Given the description of an element on the screen output the (x, y) to click on. 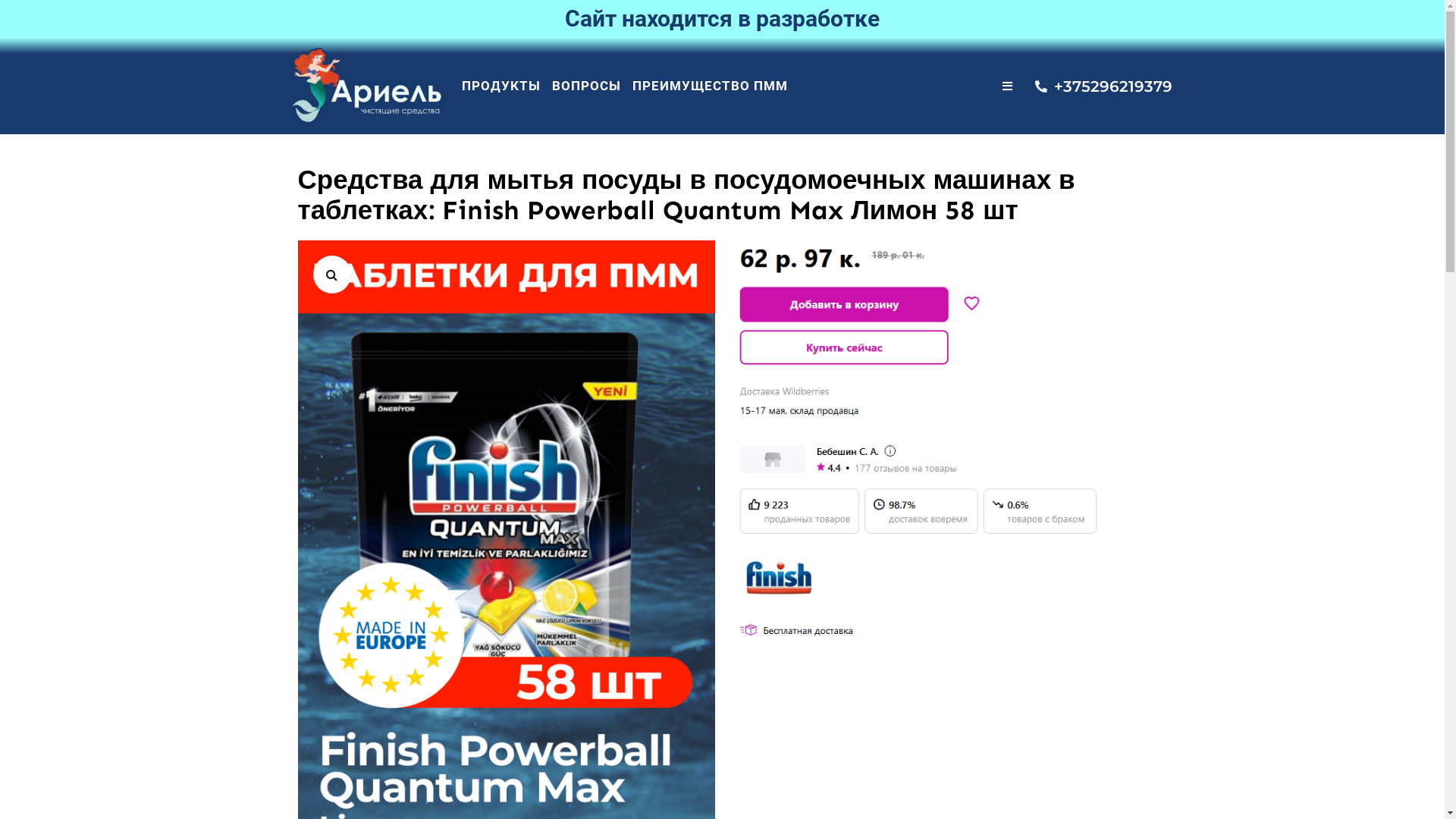
+375296219379 Element type: text (1093, 86)
